Given the description of an element on the screen output the (x, y) to click on. 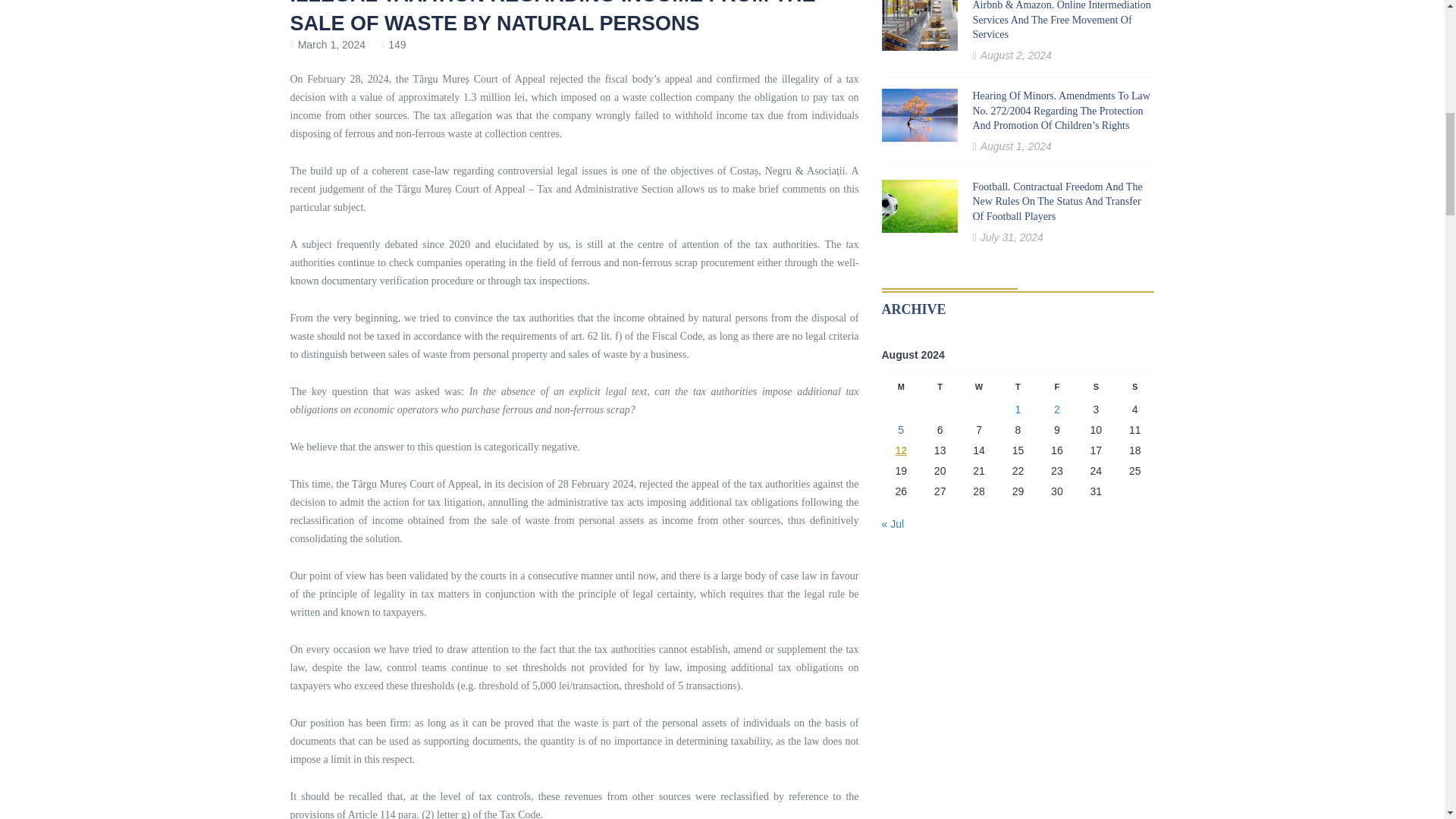
Sunday (1134, 386)
Wednesday (978, 386)
Saturday (1096, 386)
Friday (1055, 386)
Tuesday (939, 386)
Thursday (1017, 386)
Monday (900, 386)
